Given the description of an element on the screen output the (x, y) to click on. 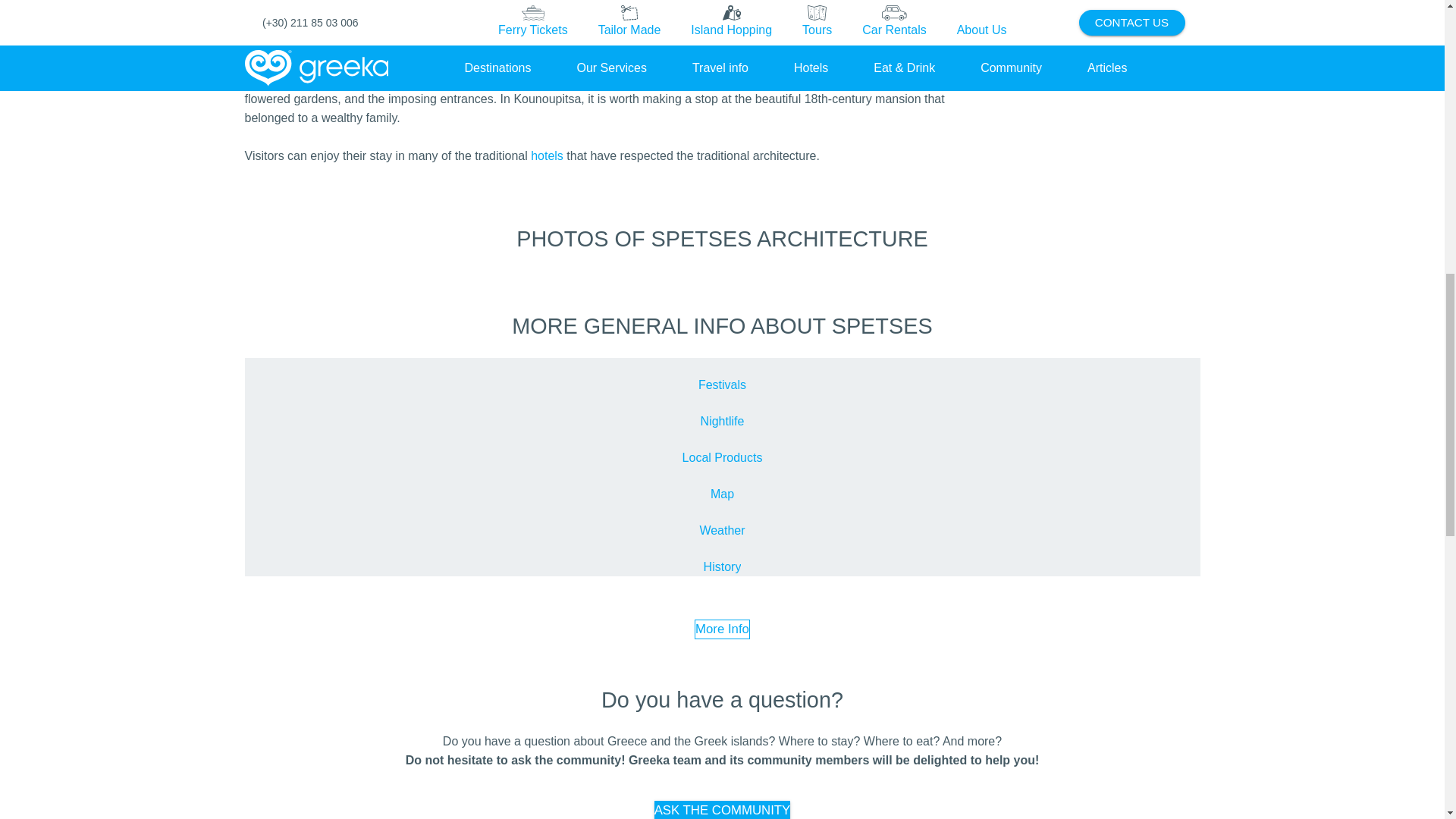
hotels (547, 155)
church of Panagia Armata (587, 50)
Spetses Museum (575, 4)
